Given the description of an element on the screen output the (x, y) to click on. 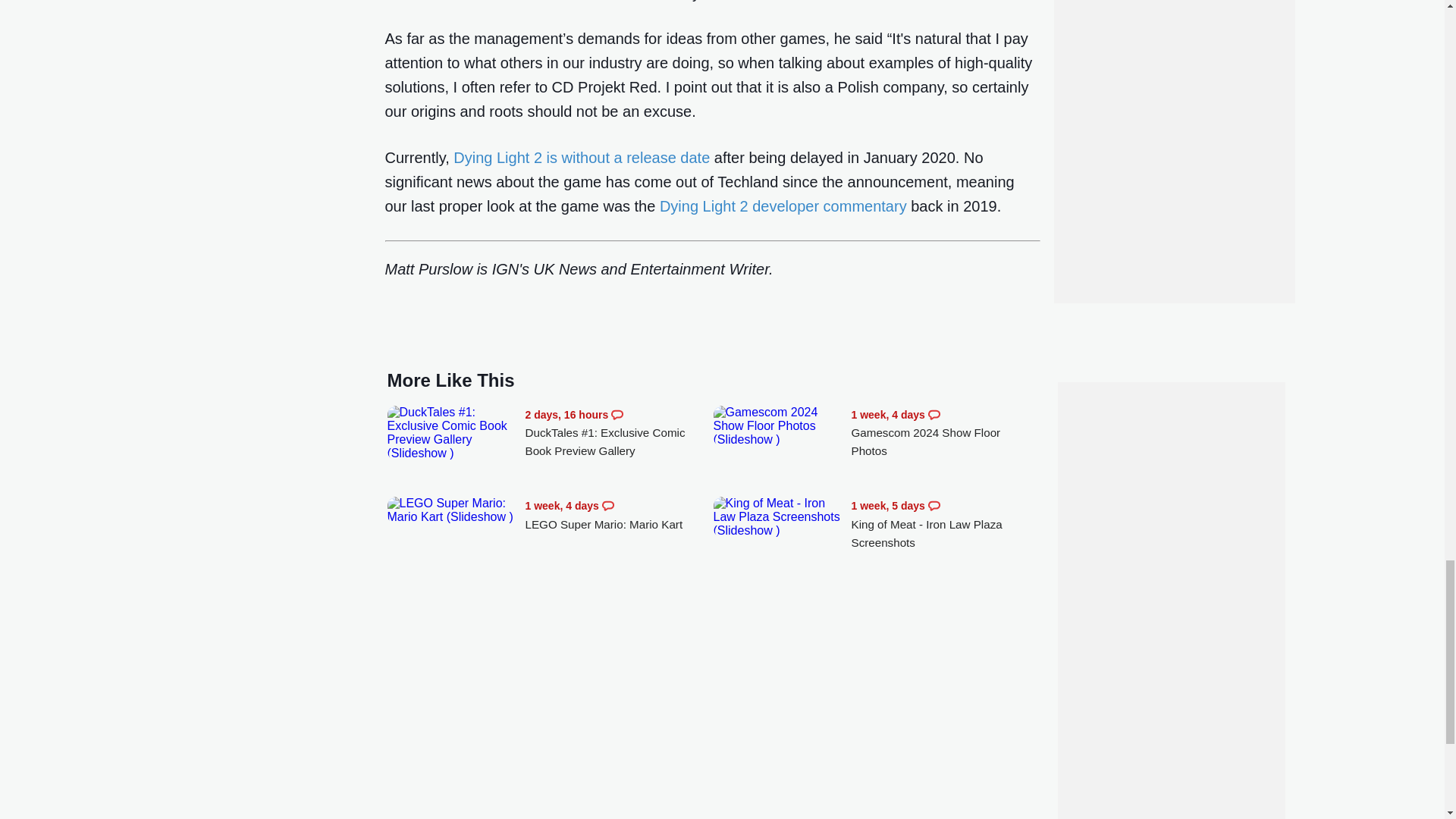
Comments (608, 505)
King of Meat - Iron Law Plaza Screenshots (778, 516)
Comments (617, 414)
Gamescom 2024 Show Floor Photos (778, 425)
Gamescom 2024 Show Floor Photos (944, 433)
LEGO Super Mario: Mario Kart (618, 514)
Comments (934, 414)
King of Meat - Iron Law Plaza Screenshots (944, 524)
LEGO Super Mario: Mario Kart (451, 510)
Comments (934, 505)
